Given the description of an element on the screen output the (x, y) to click on. 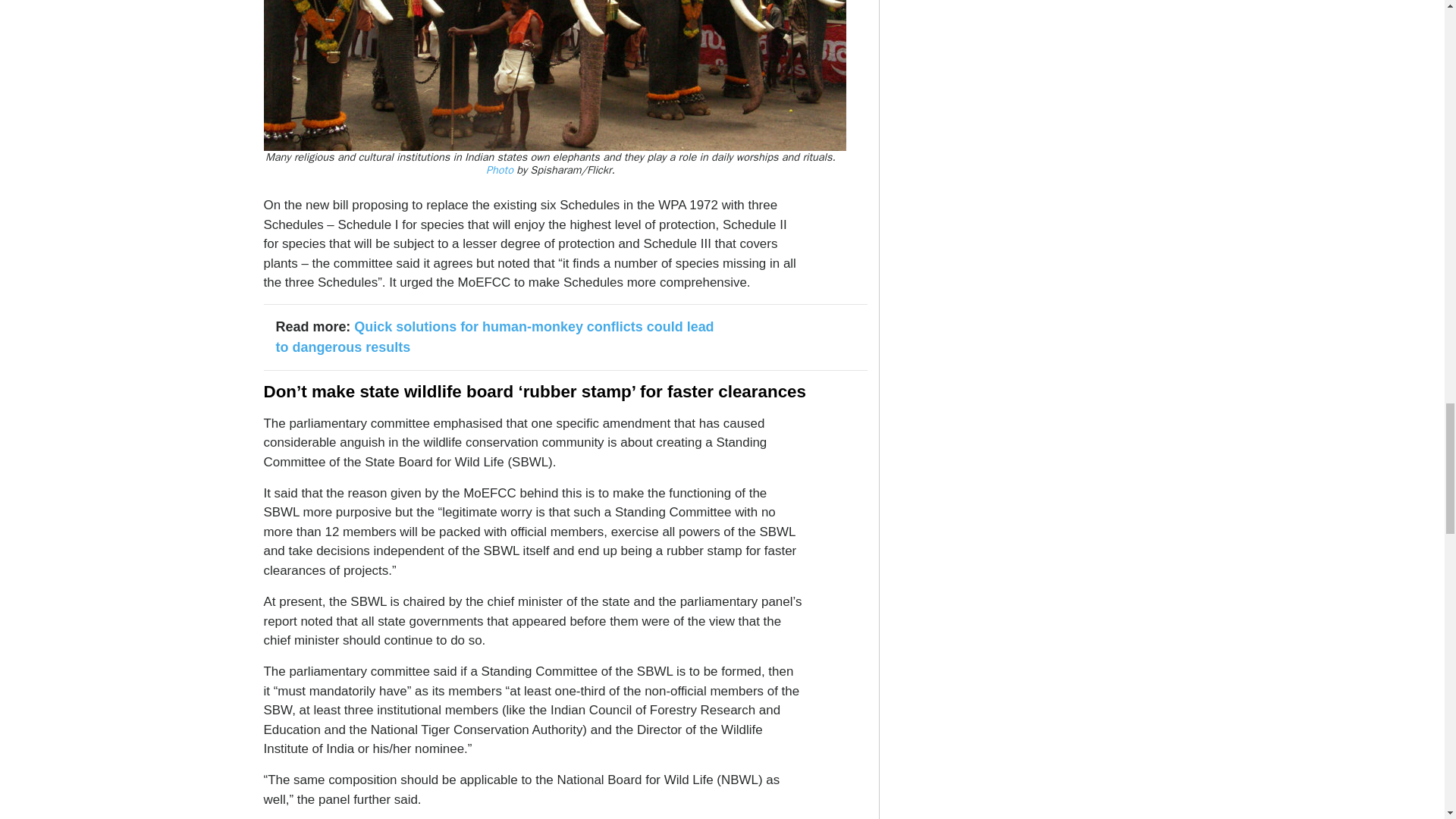
Photo (499, 169)
